Given the description of an element on the screen output the (x, y) to click on. 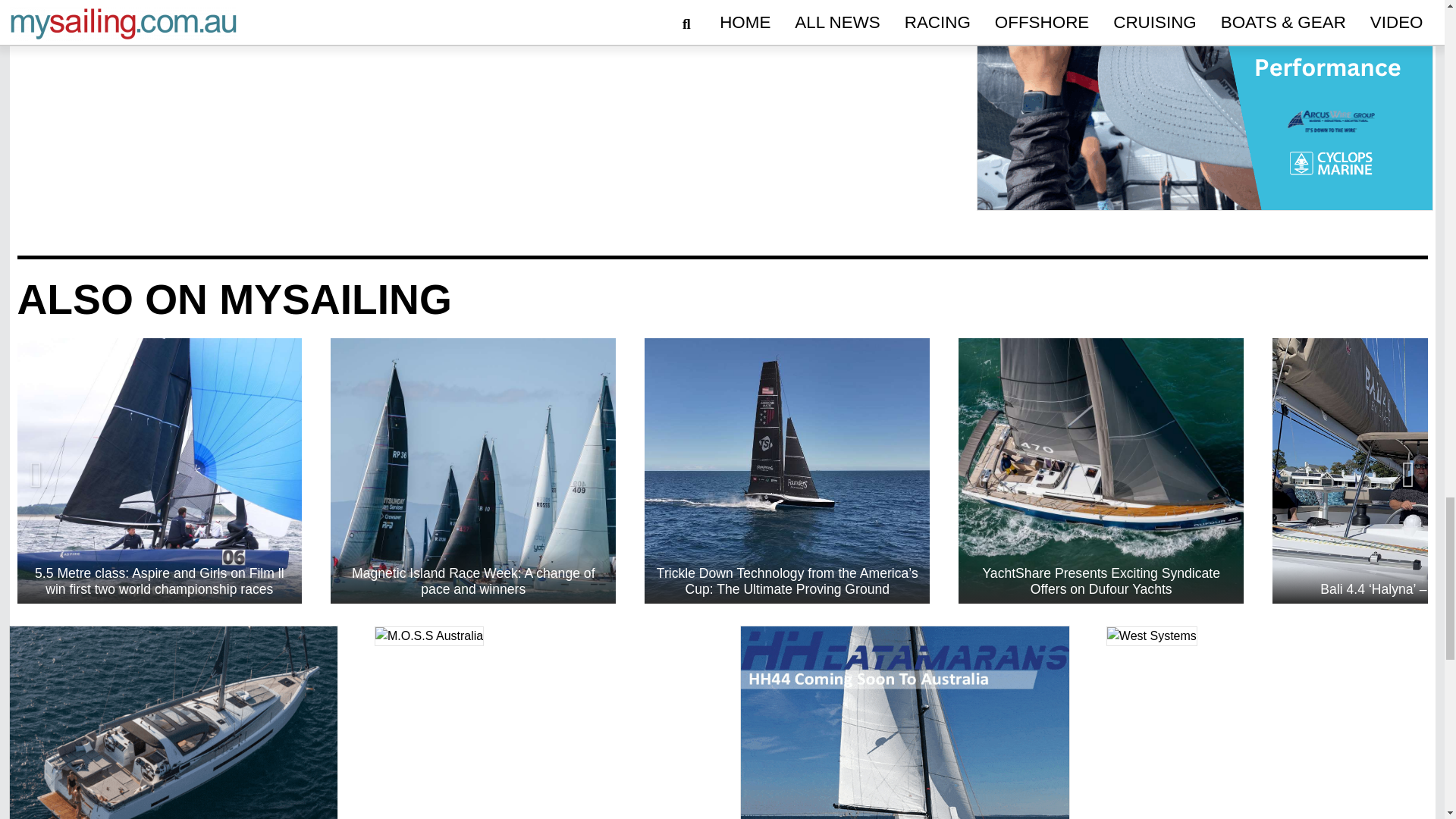
Magnetic Island Race Week: A change of pace and winners (472, 470)
